Given the description of an element on the screen output the (x, y) to click on. 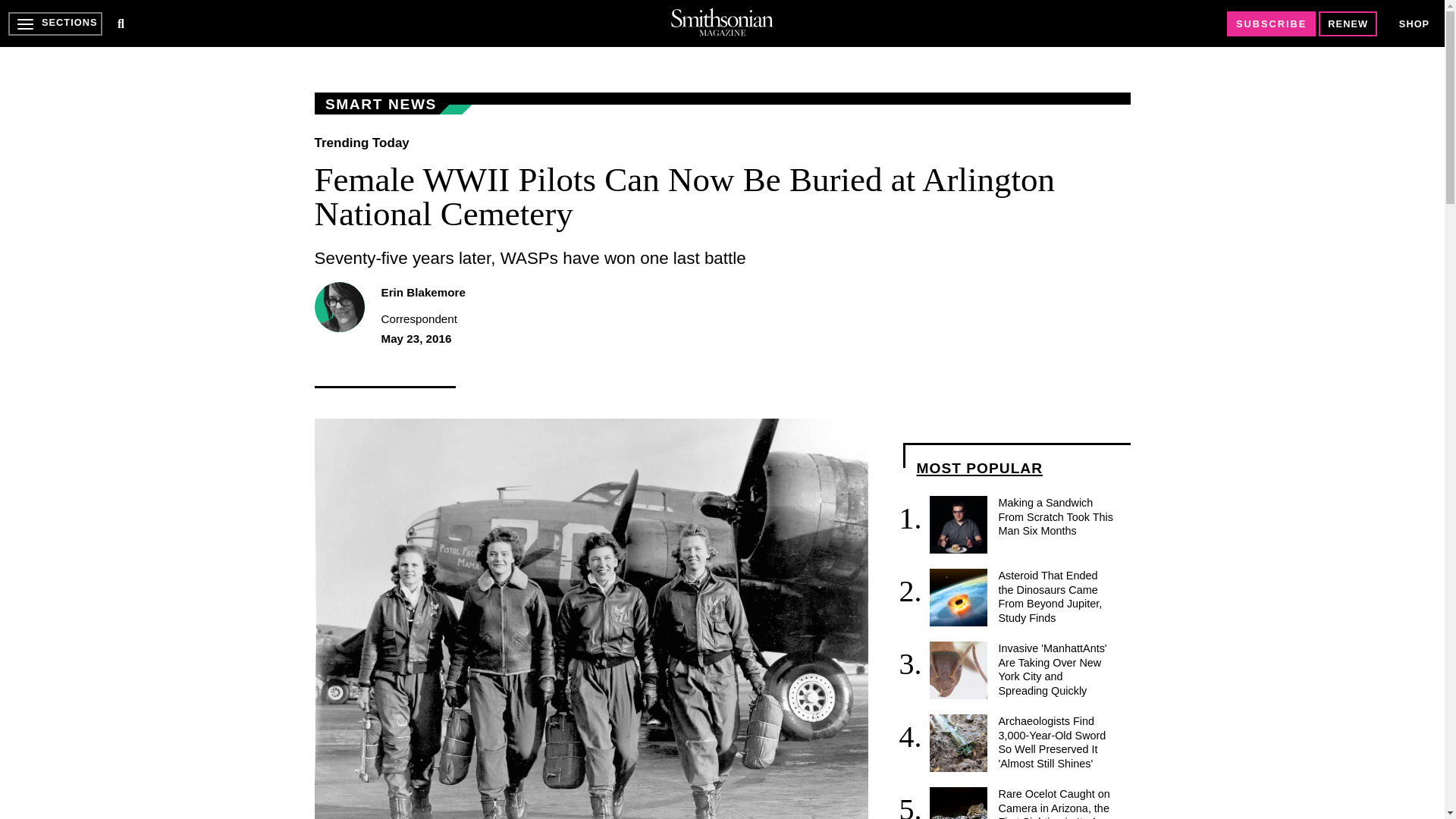
RENEW (1347, 23)
SHOP (1414, 23)
SUBSCRIBE (1271, 23)
RENEW (1348, 23)
SECTIONS (55, 23)
SHOP (1413, 23)
SUBSCRIBE (1271, 23)
